Given the description of an element on the screen output the (x, y) to click on. 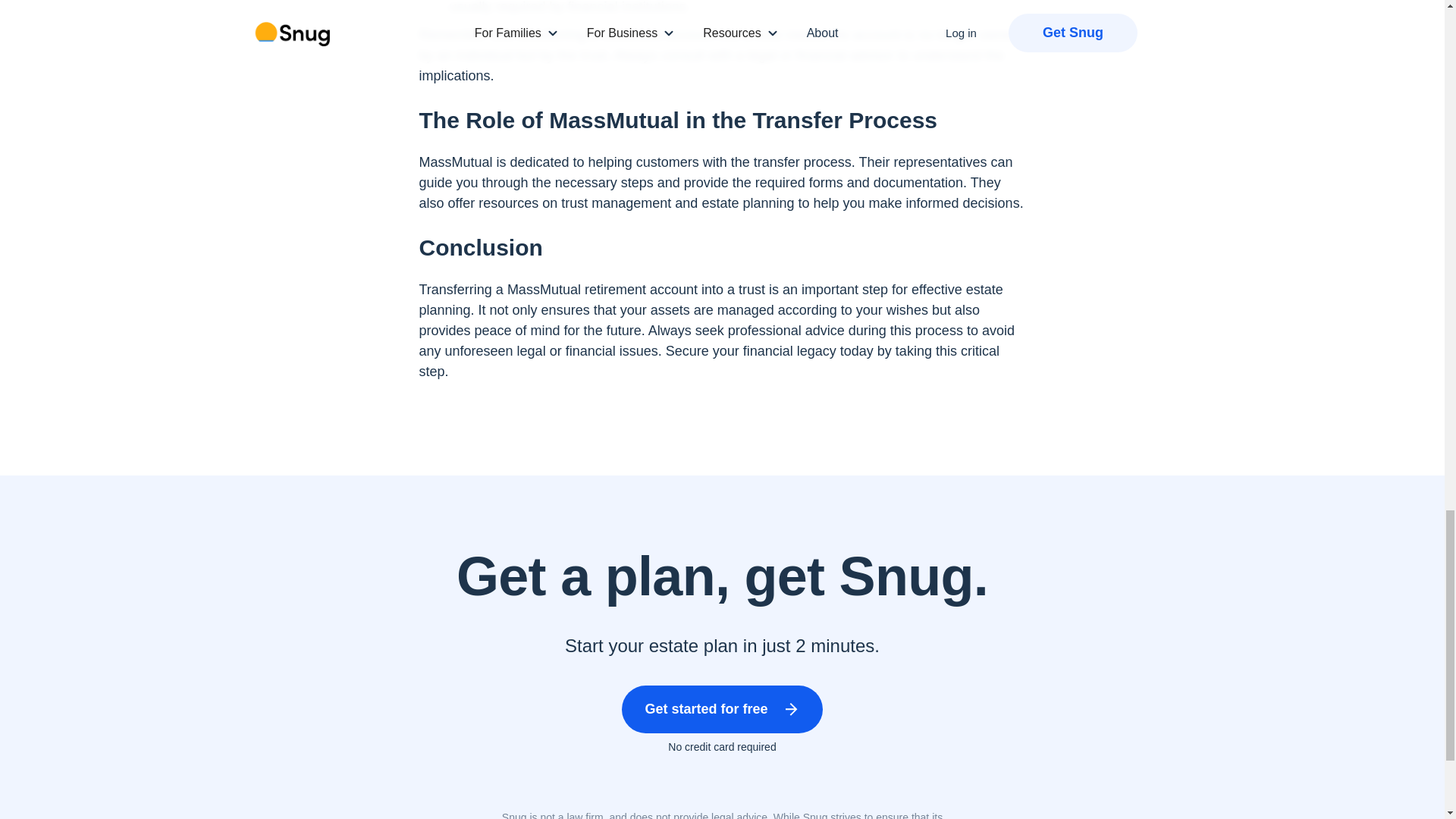
Get started for free (721, 709)
